Given the description of an element on the screen output the (x, y) to click on. 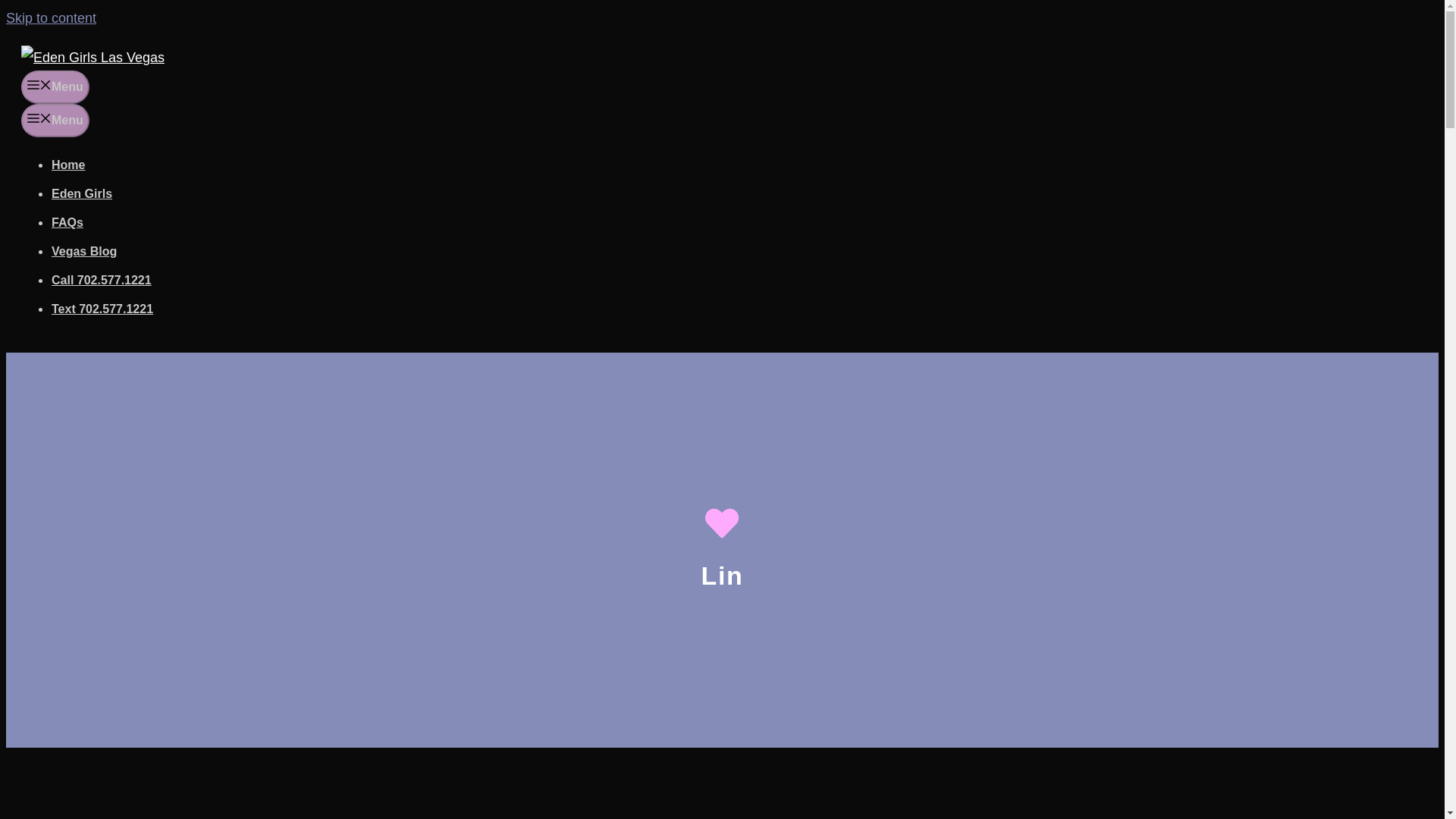
Eden Girls (81, 193)
Menu (54, 120)
Skip to content (50, 17)
Skip to content (50, 17)
FAQs (66, 222)
Call 702.577.1221 (100, 279)
Vegas Blog (83, 250)
Menu (54, 87)
Home (67, 164)
Text 702.577.1221 (101, 308)
